Given the description of an element on the screen output the (x, y) to click on. 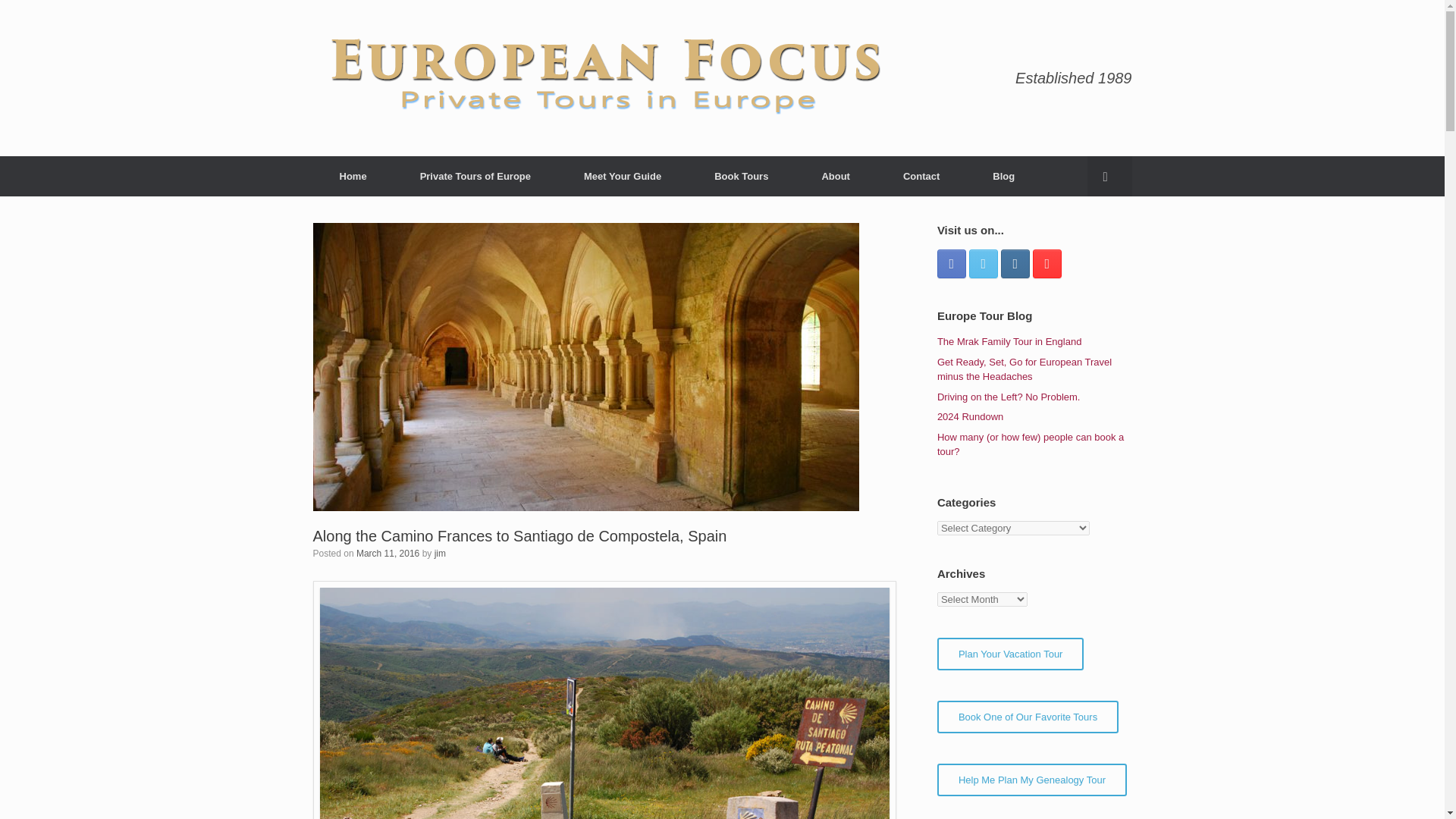
Meet Your Guide (622, 176)
About (835, 176)
European Focus YouTube (1046, 262)
Book Tours (740, 176)
10:29 pm (387, 552)
European Focus (605, 78)
March 11, 2016 (387, 552)
European Focus Instagram (1015, 262)
Contact (921, 176)
jim (439, 552)
European Focus Facebook (951, 262)
Blog (1003, 176)
Private Tours of Europe (475, 176)
European Focus Twitter (983, 262)
View all posts by jim (439, 552)
